Given the description of an element on the screen output the (x, y) to click on. 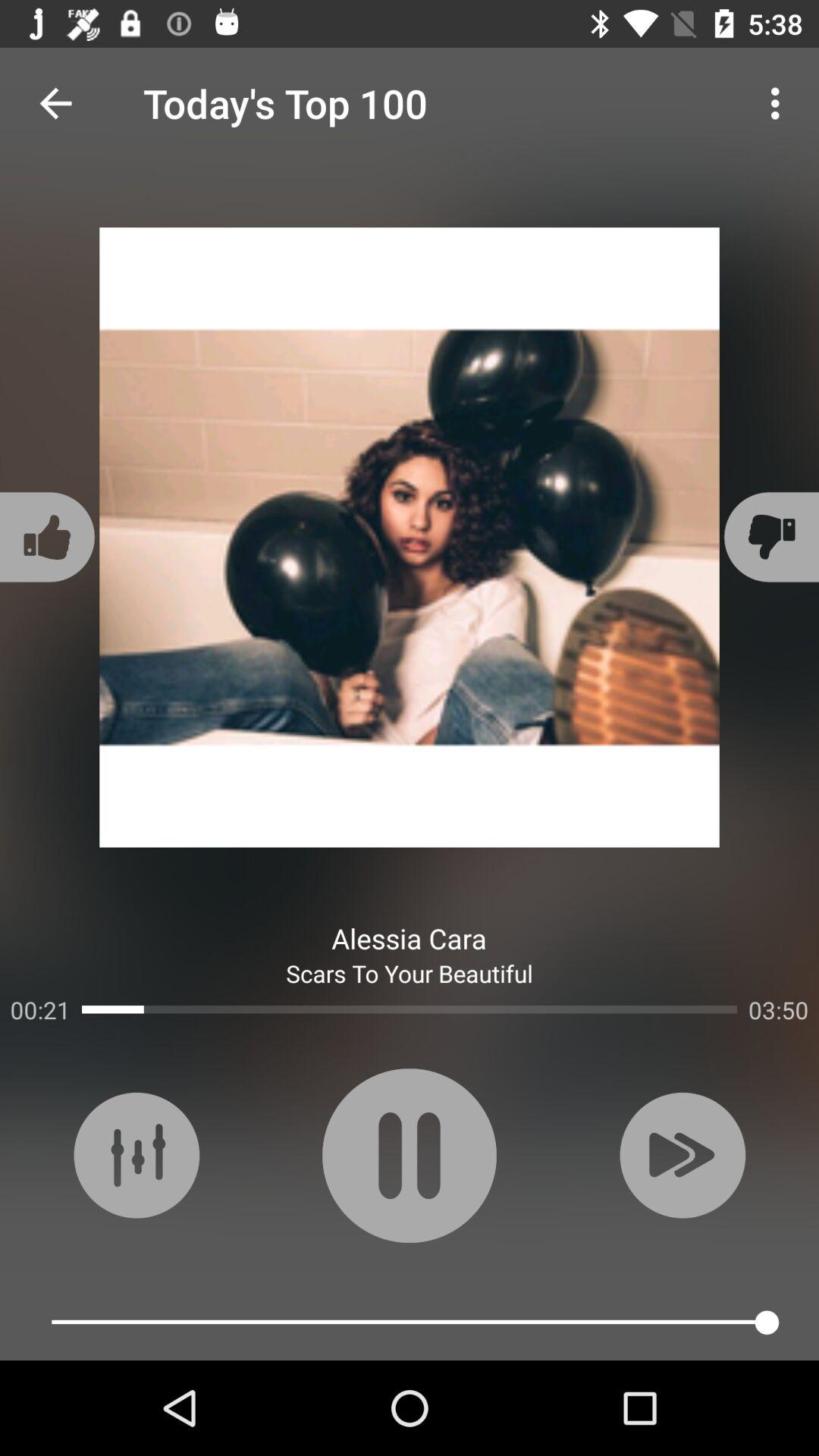
tap the icon next to today s top item (55, 103)
